Given the description of an element on the screen output the (x, y) to click on. 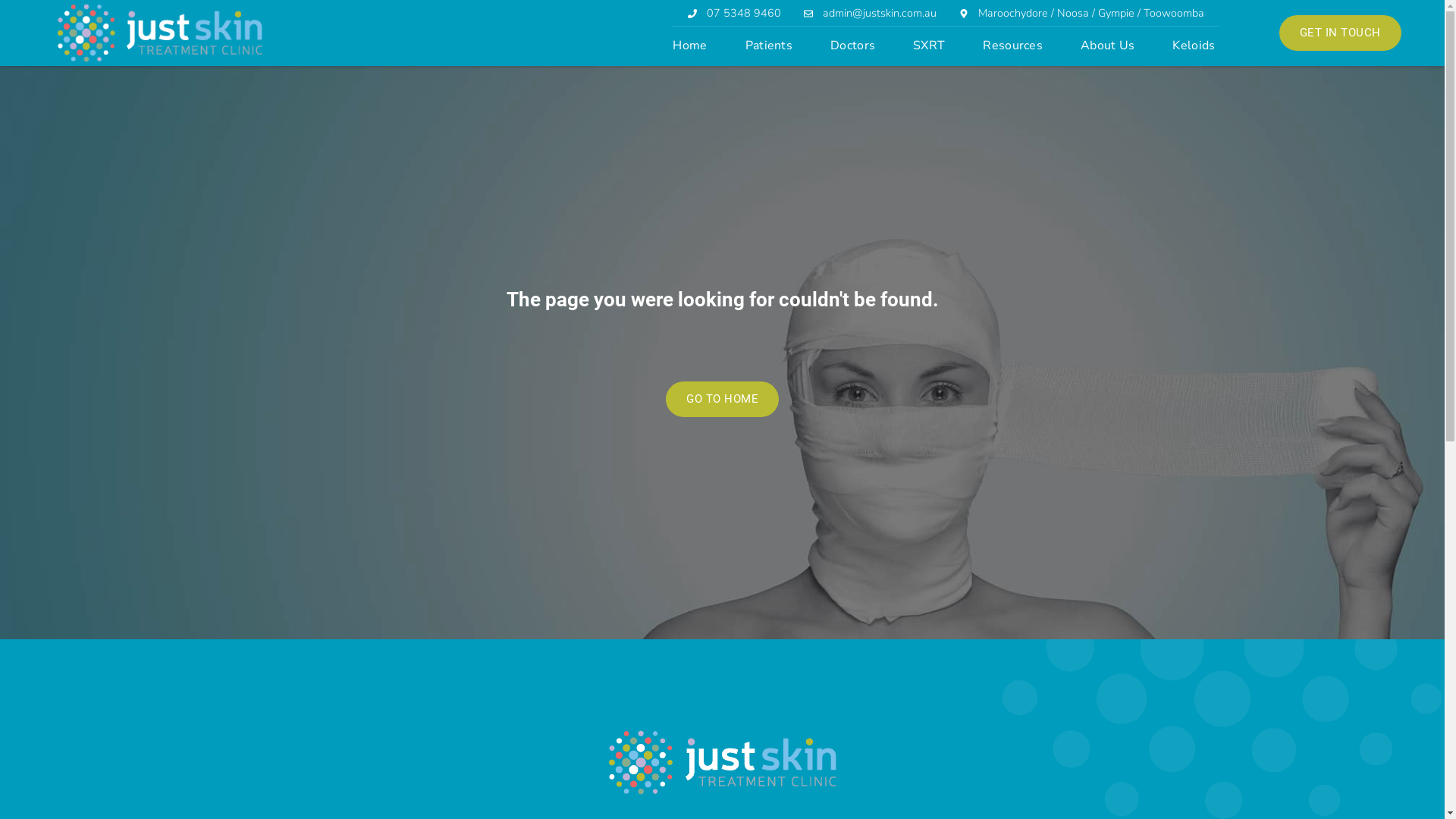
GET IN TOUCH Element type: text (1340, 32)
07 5348 9460 Element type: text (734, 13)
About Us Element type: text (1107, 45)
SXRT Element type: text (928, 45)
Patients Element type: text (768, 45)
Maroochydore / Noosa / Gympie / Toowoomba Element type: text (1081, 13)
Home Element type: text (689, 45)
Resources Element type: text (1012, 45)
Doctors Element type: text (852, 45)
GO TO HOME Element type: text (721, 399)
Keloids Element type: text (1193, 45)
admin@justskin.com.au Element type: text (869, 13)
